Given the description of an element on the screen output the (x, y) to click on. 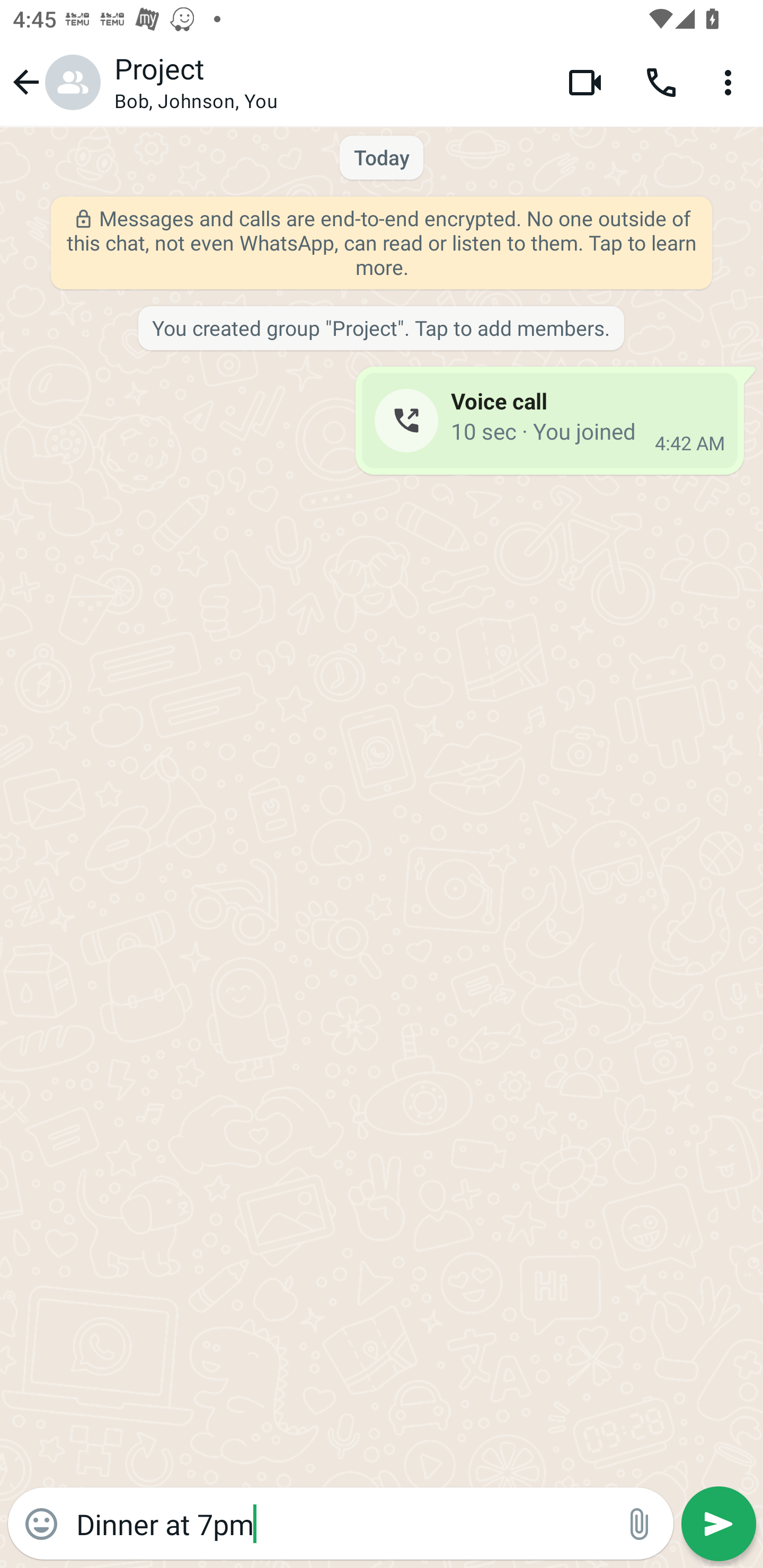
Project Bob, Johnson, You (327, 82)
Navigate up (54, 82)
Video call (585, 81)
Voice call (661, 81)
More options (731, 81)
You created group "Project". Tap to add members. (381, 329)
Emoji (41, 1523)
Attach (640, 1523)
Send (718, 1523)
Dinner at 7pm (340, 1523)
